Given the description of an element on the screen output the (x, y) to click on. 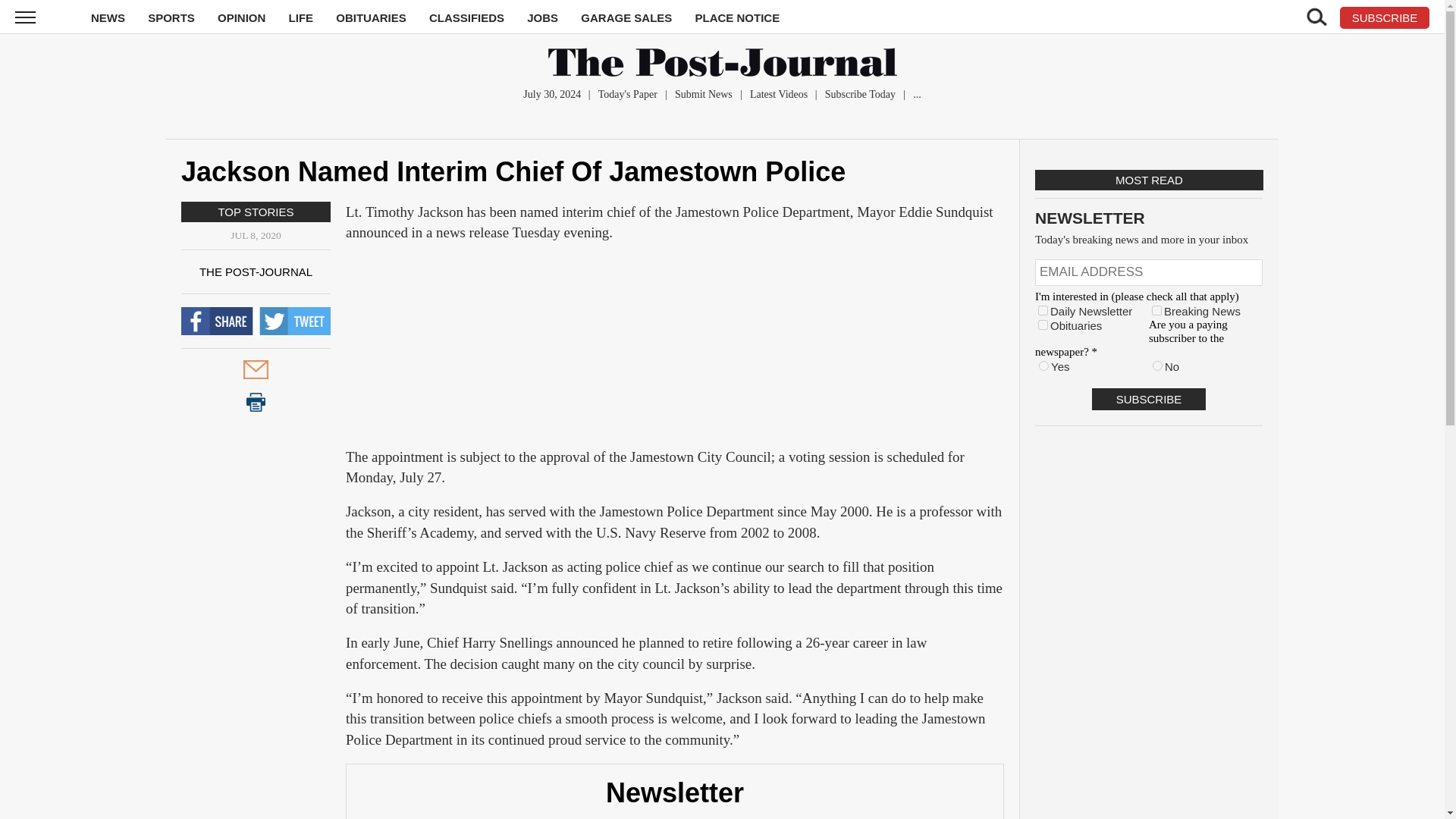
3rd party ad content (674, 351)
2 (1156, 310)
View all posts in Top stories (255, 211)
1 (1043, 310)
Yes (1043, 366)
Subscribe (1148, 399)
4 (1043, 325)
No (1157, 366)
